Given the description of an element on the screen output the (x, y) to click on. 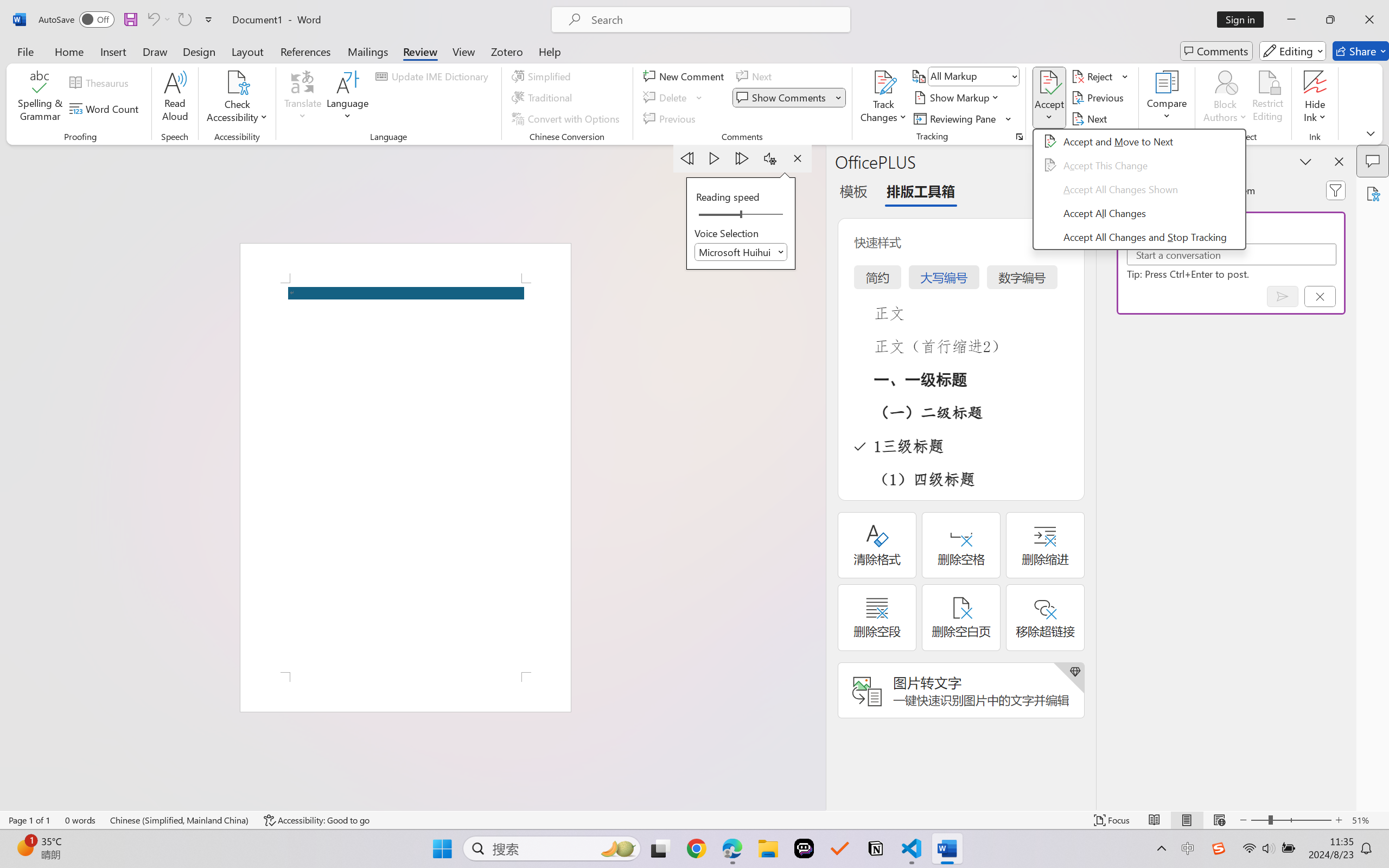
Update IME Dictionary... (433, 75)
Block Authors (1224, 97)
Traditional (543, 97)
Cancel (1320, 296)
Show Markup (957, 97)
Play (715, 158)
